Given the description of an element on the screen output the (x, y) to click on. 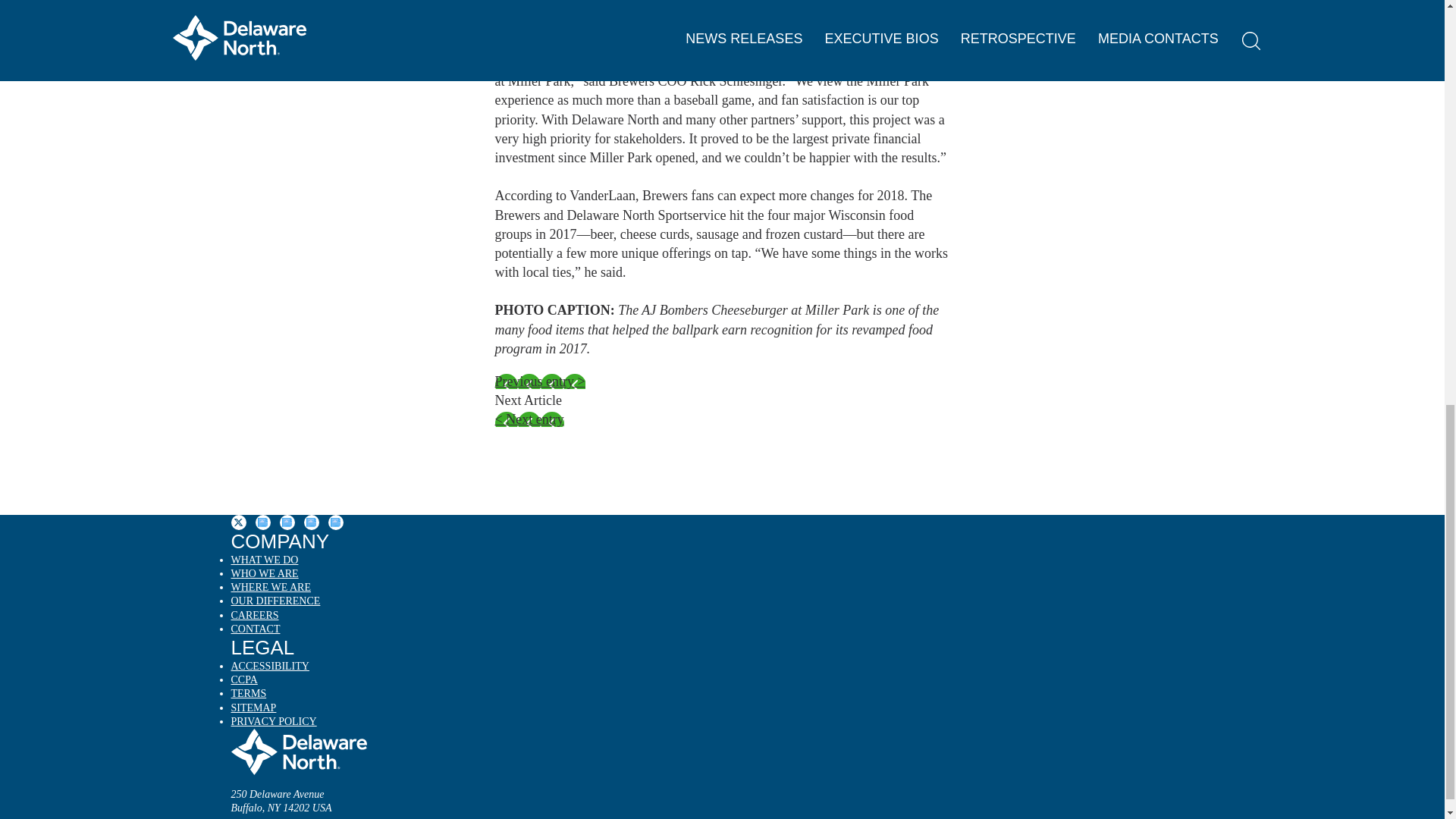
SITEMAP (253, 708)
WHAT WE DO (264, 561)
ACCESSIBILITY (269, 667)
CONTACT (254, 630)
PRIVACY POLICY (272, 722)
CCPA (243, 680)
OUR DIFFERENCE (275, 602)
TERMS (248, 694)
CAREERS (254, 616)
WHERE WE ARE (270, 588)
WHO WE ARE (264, 574)
